Given the description of an element on the screen output the (x, y) to click on. 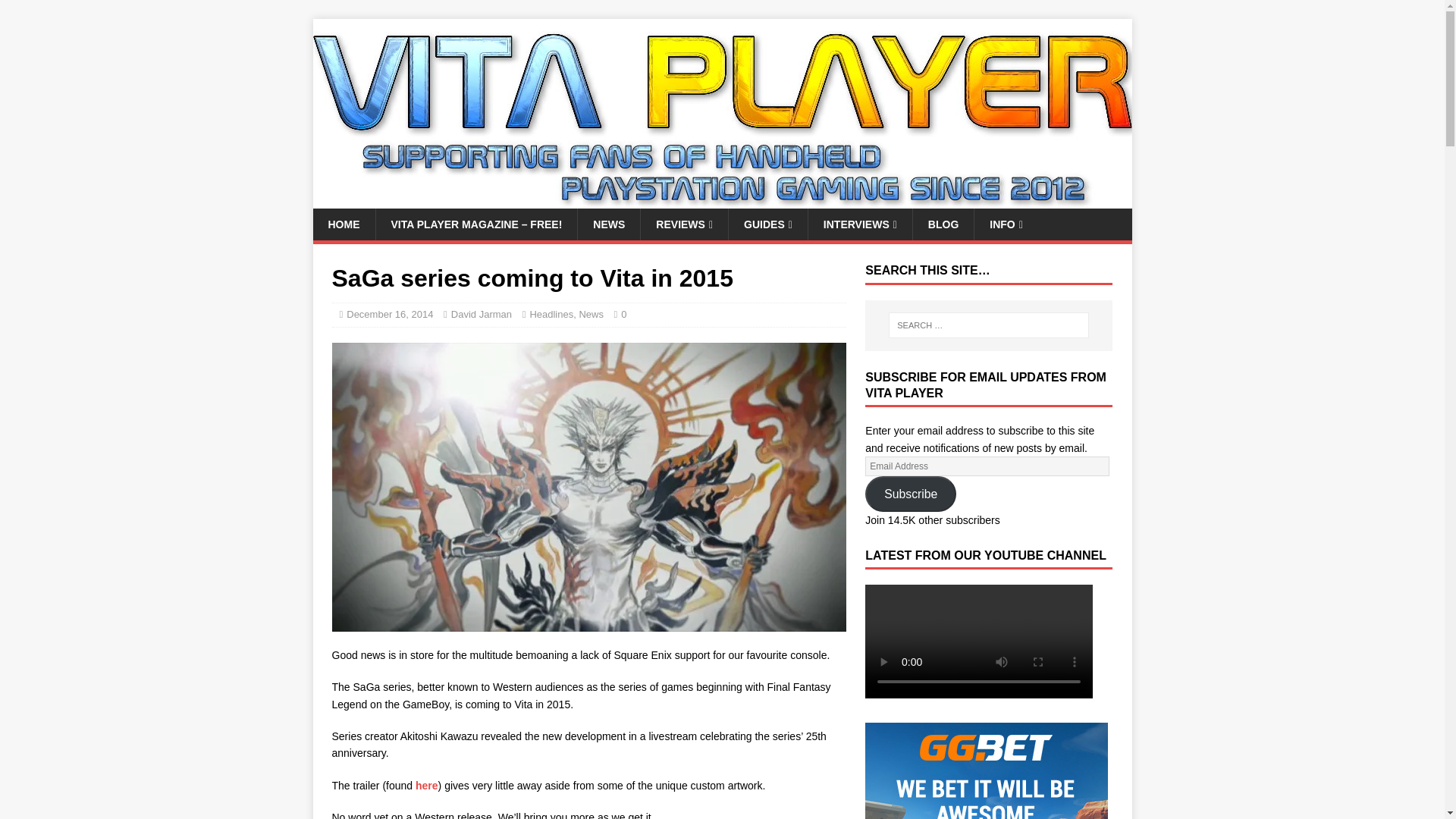
HOME (343, 224)
NEWS (608, 224)
INTERVIEWS (860, 224)
Vita Player - the one-stop resource for PS Vita owners (722, 200)
GUIDES (768, 224)
REVIEWS (684, 224)
INFO (1006, 224)
BLOG (943, 224)
